Given the description of an element on the screen output the (x, y) to click on. 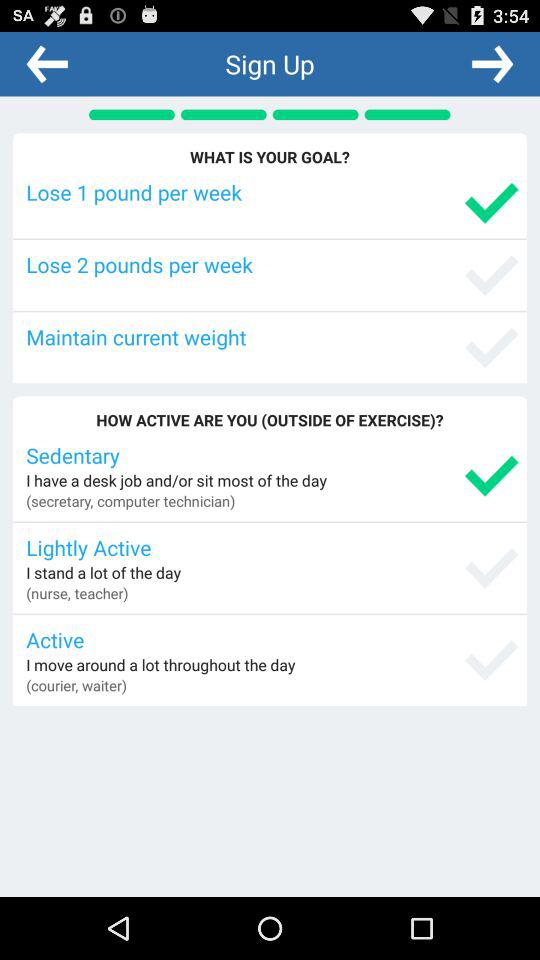
press the app next to sign up (47, 63)
